Given the description of an element on the screen output the (x, y) to click on. 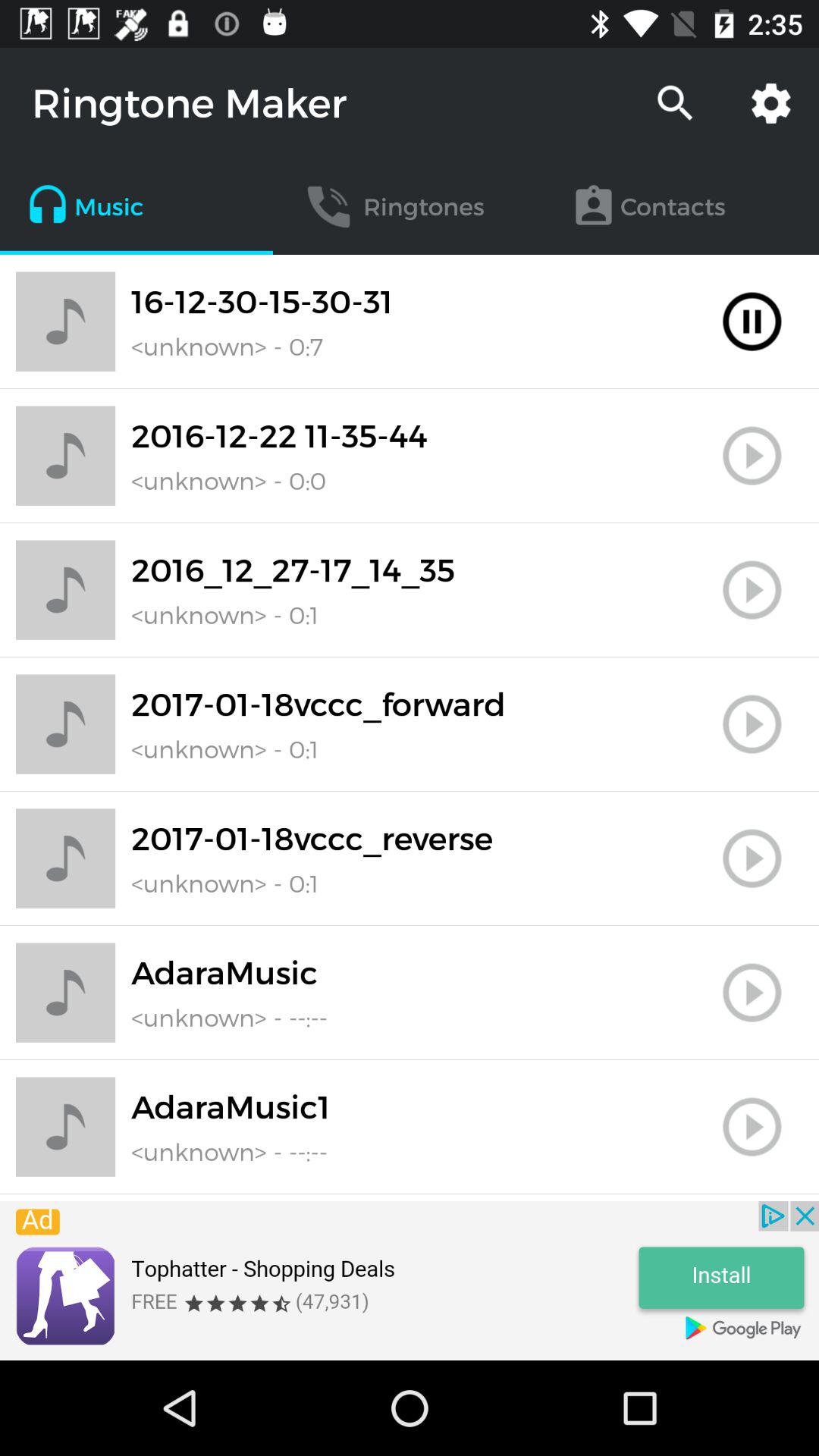
switch autoplay option (752, 590)
